Given the description of an element on the screen output the (x, y) to click on. 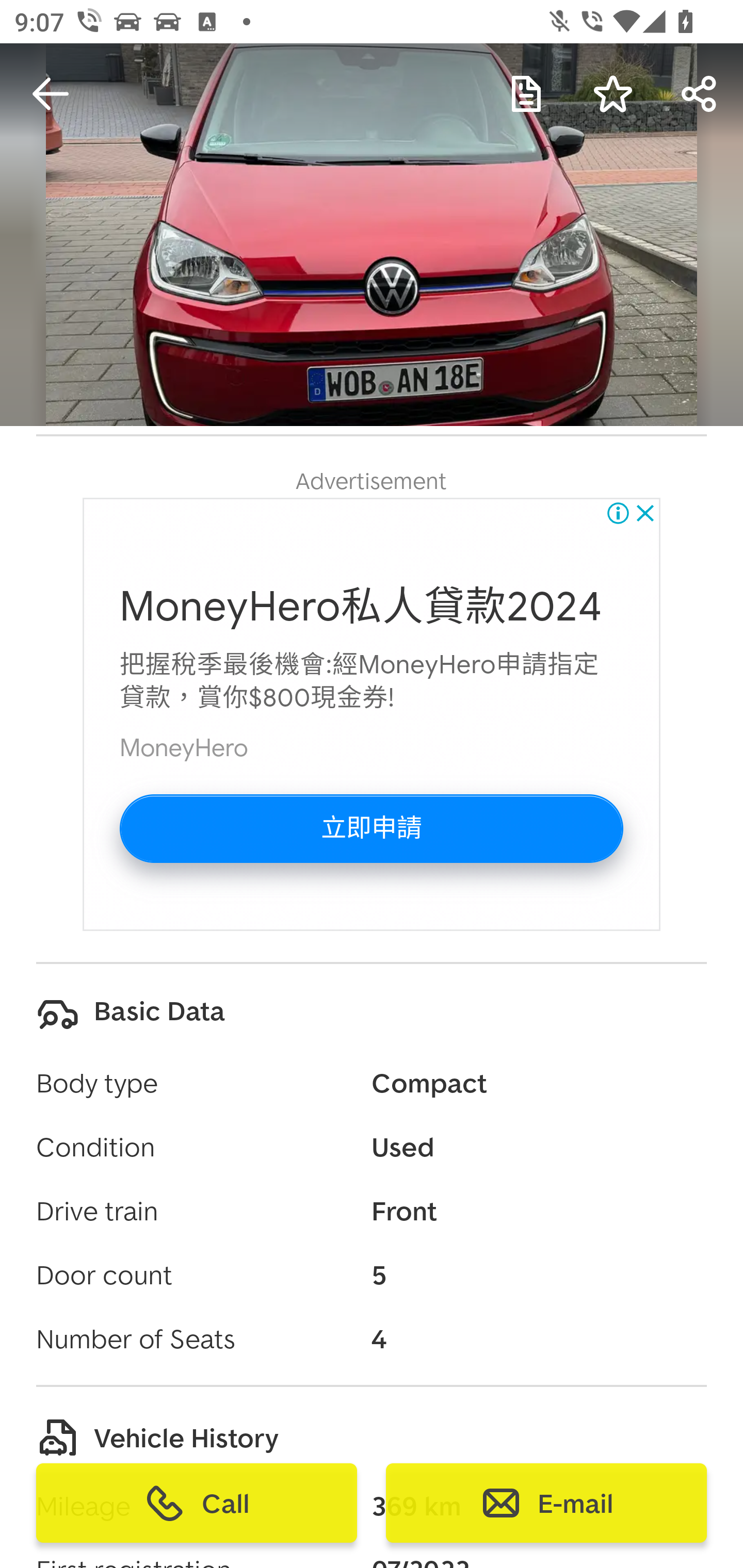
Navigate up (50, 93)
My Notes (525, 93)
Save (612, 93)
Forward (699, 93)
MoneyHero私人貸款2024 (361, 606)
MoneyHero (183, 747)
立即申請 (371, 828)
Call (196, 1502)
E-mail (545, 1502)
